Given the description of an element on the screen output the (x, y) to click on. 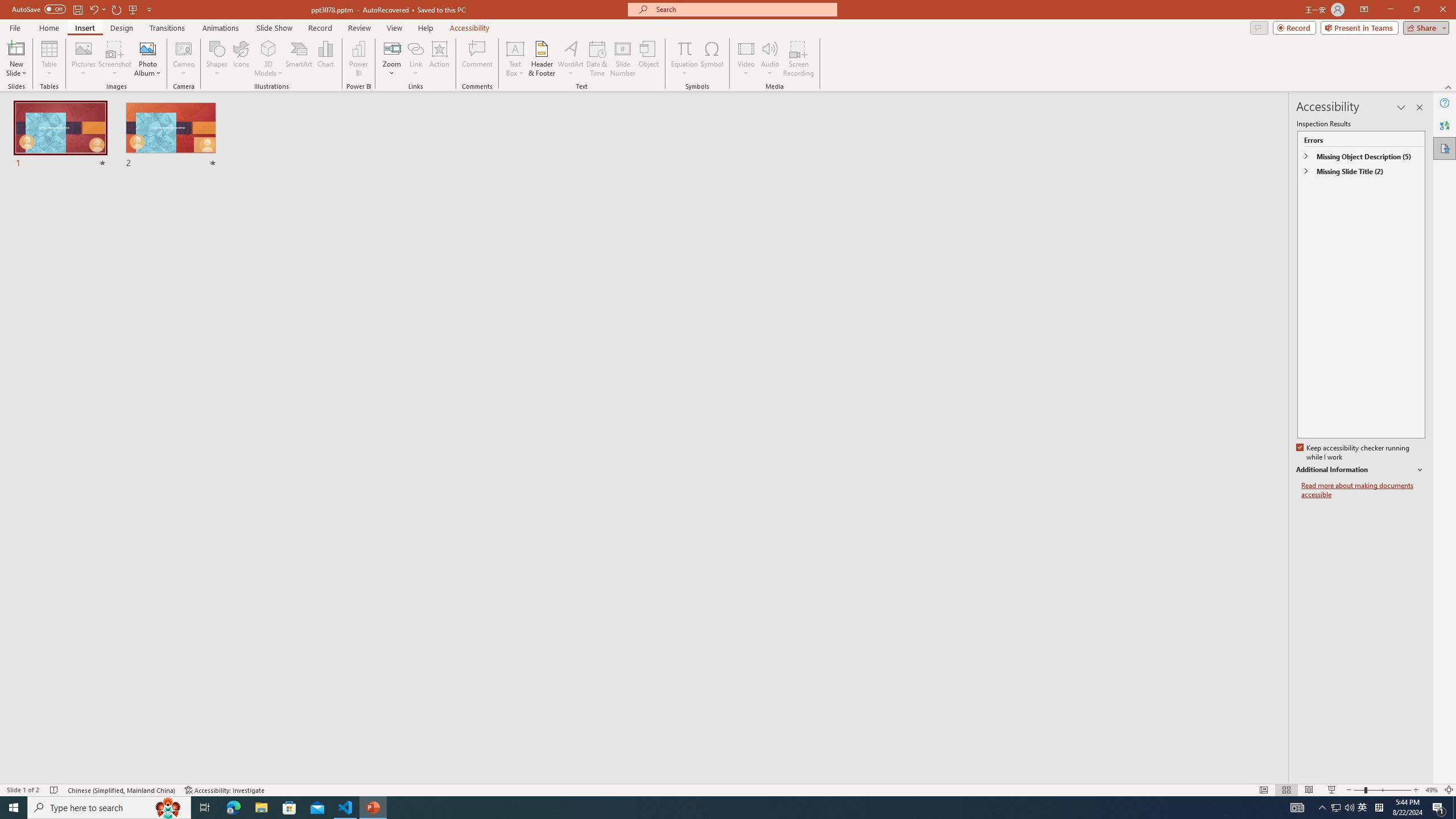
Action (439, 58)
3D Models (268, 48)
Table (49, 58)
Header & Footer... (541, 58)
Read more about making documents accessible (1363, 489)
